Given the description of an element on the screen output the (x, y) to click on. 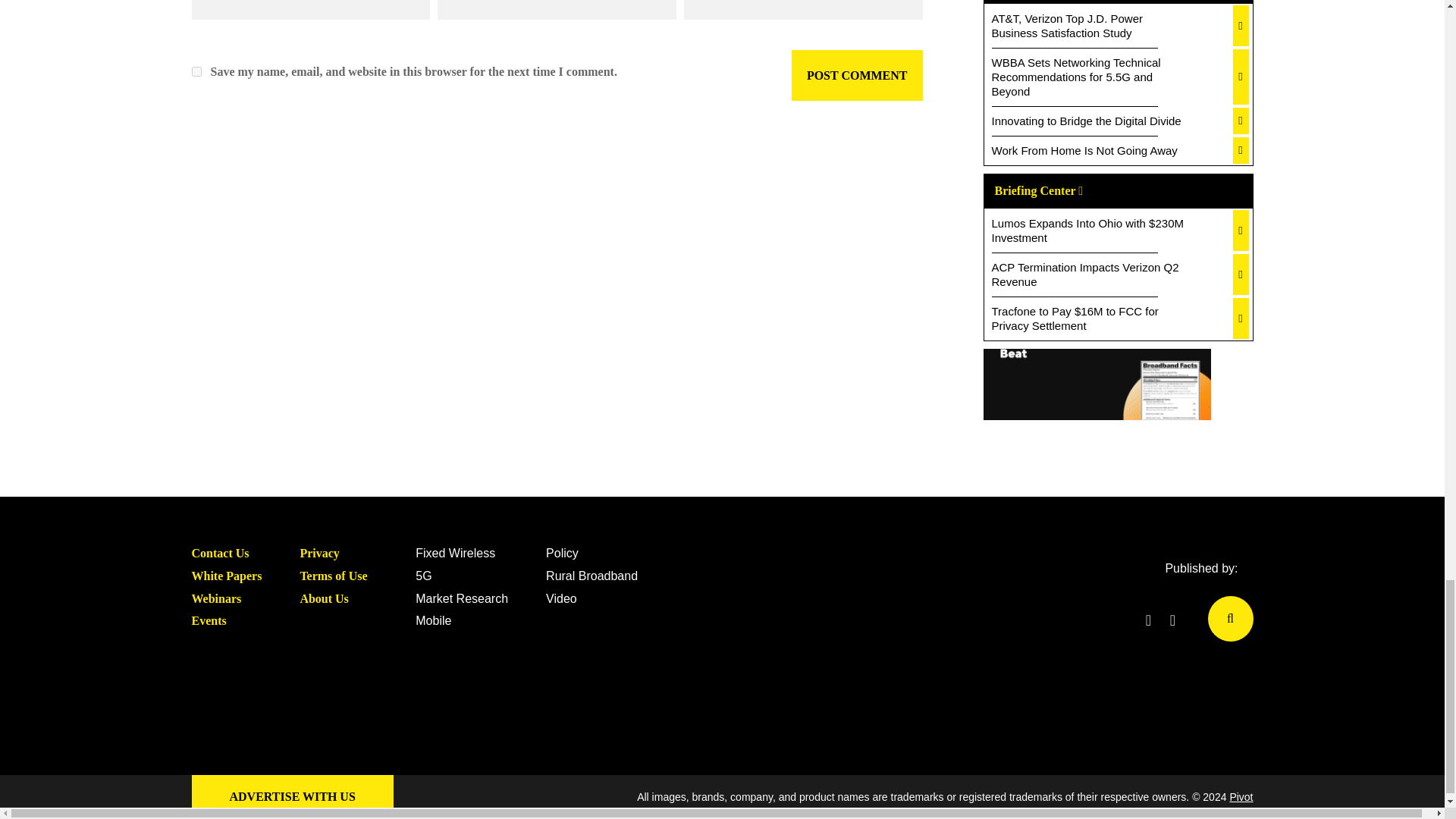
Post Comment (857, 75)
yes (195, 71)
